Given the description of an element on the screen output the (x, y) to click on. 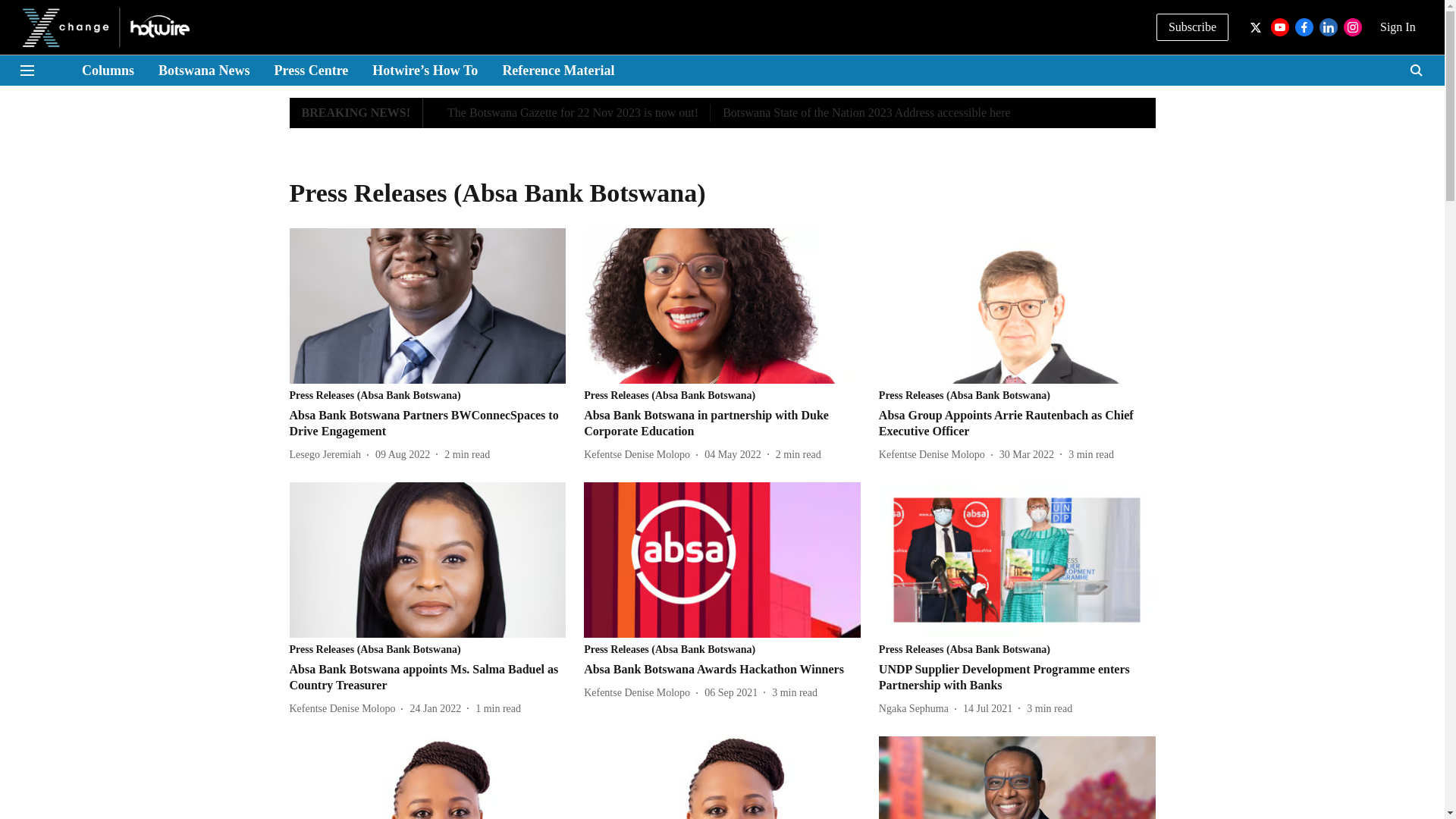
Kefentse Denise Molopo Element type: text (934, 454)
Columns Element type: text (107, 70)
Kefentse Denise Molopo Element type: text (639, 454)
The Botswana Gazette for 22 Nov 2023 is now out! Element type: text (572, 112)
Press Releases (Absa Bank Botswana) Element type: text (427, 649)
Reference Material Element type: text (558, 70)
Press Releases (Absa Bank Botswana) Element type: text (721, 395)
Absa Bank Botswana Awards Hackathon Winners Element type: text (721, 669)
Kefentse Denise Molopo Element type: text (345, 708)
Kefentse Denise Molopo Element type: text (639, 692)
Press Releases (Absa Bank Botswana) Element type: text (427, 395)
Subscribe Element type: text (1192, 26)
Press Releases (Absa Bank Botswana) Element type: text (1016, 649)
Press Releases (Absa Bank Botswana) Element type: text (1016, 395)
Press Releases (Absa Bank Botswana) Element type: text (721, 649)
Botswana News Element type: text (204, 70)
Lesego Jeremiah Element type: text (328, 454)
Botswana State of the Nation 2023 Address accessible here Element type: text (866, 112)
Press Centre Element type: text (311, 70)
Ngaka Sephuma Element type: text (916, 708)
